Given the description of an element on the screen output the (x, y) to click on. 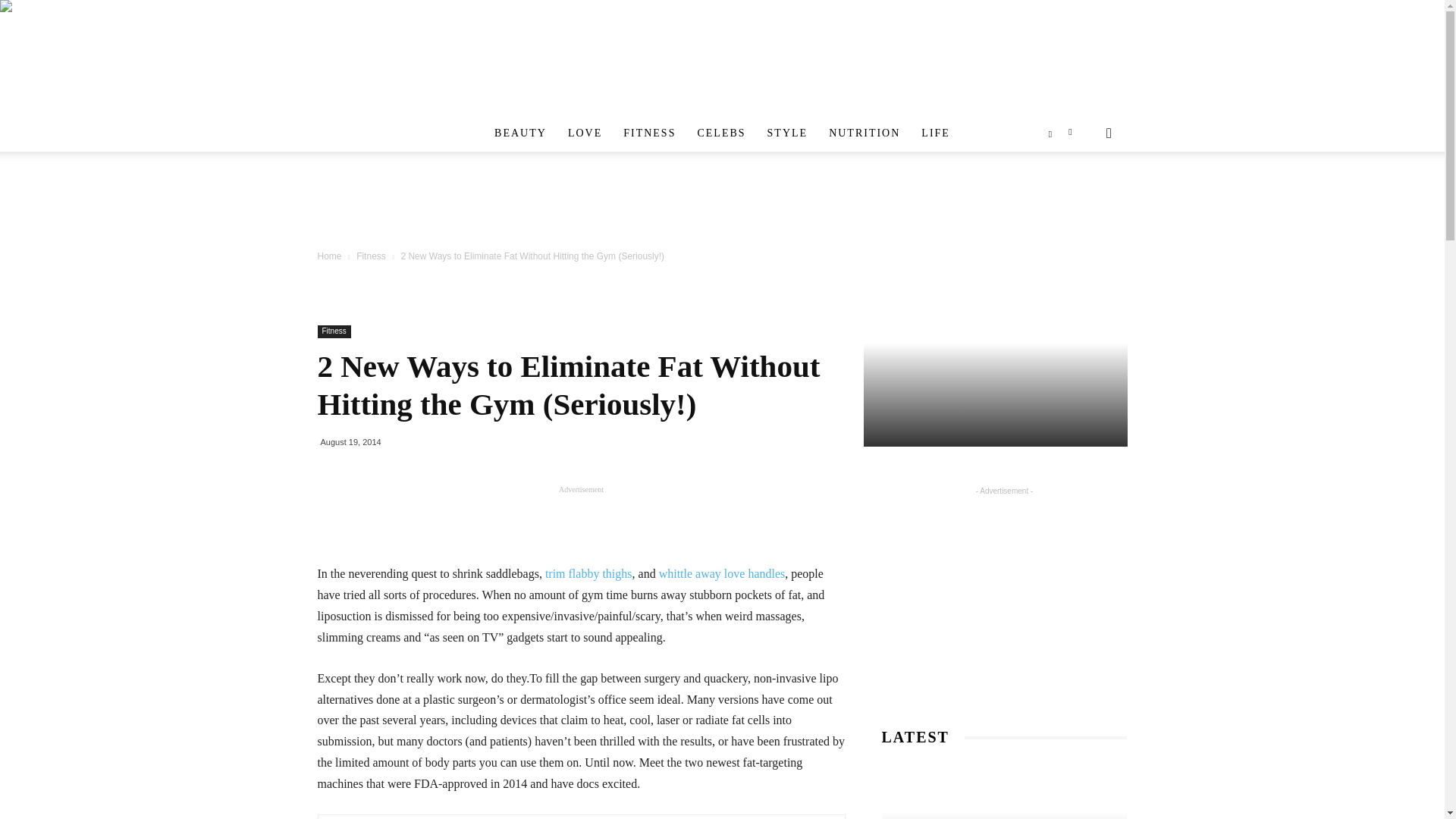
LOVE (584, 133)
BEAUTY (520, 133)
